Given the description of an element on the screen output the (x, y) to click on. 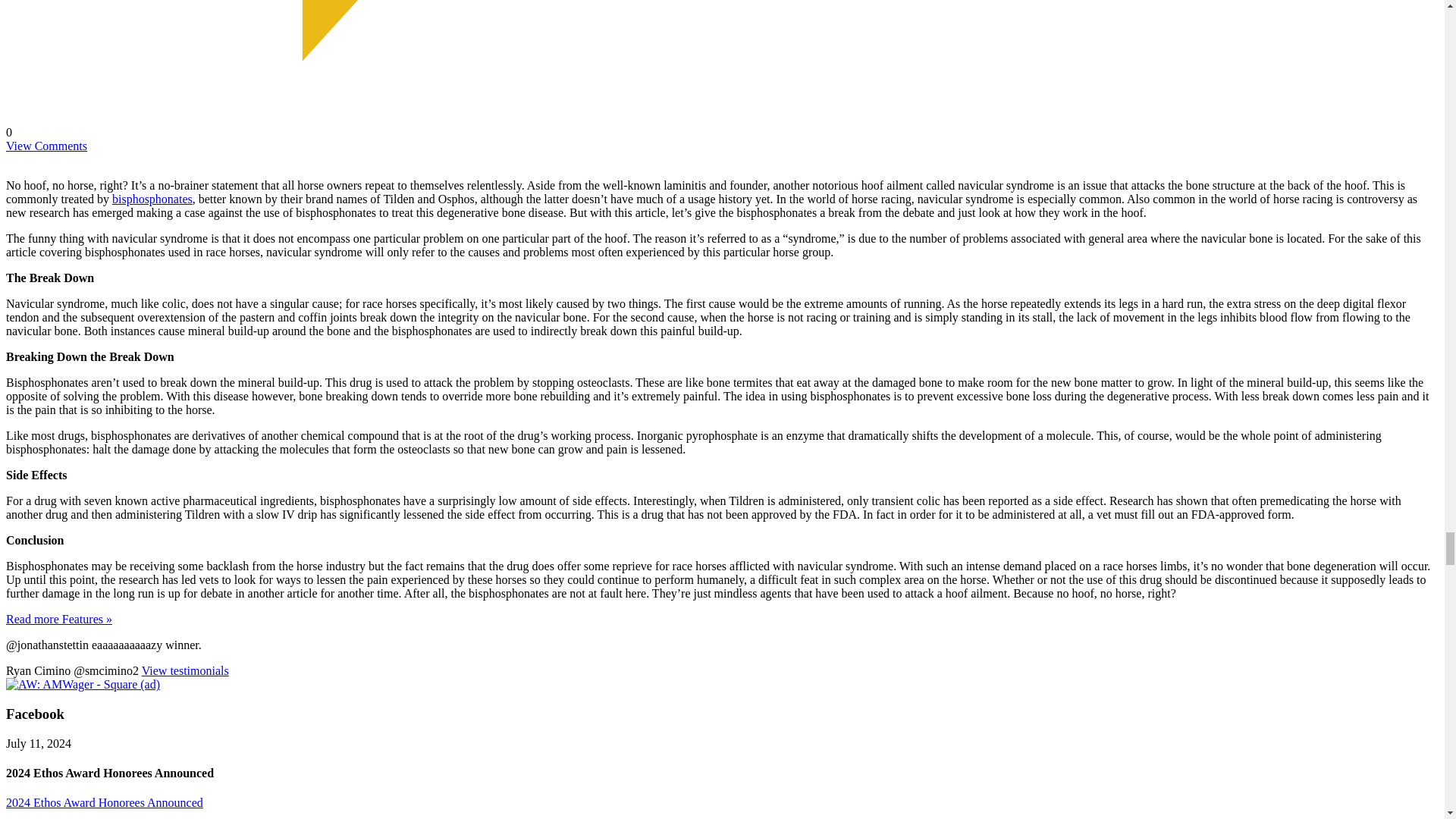
View Comments (46, 145)
